Given the description of an element on the screen output the (x, y) to click on. 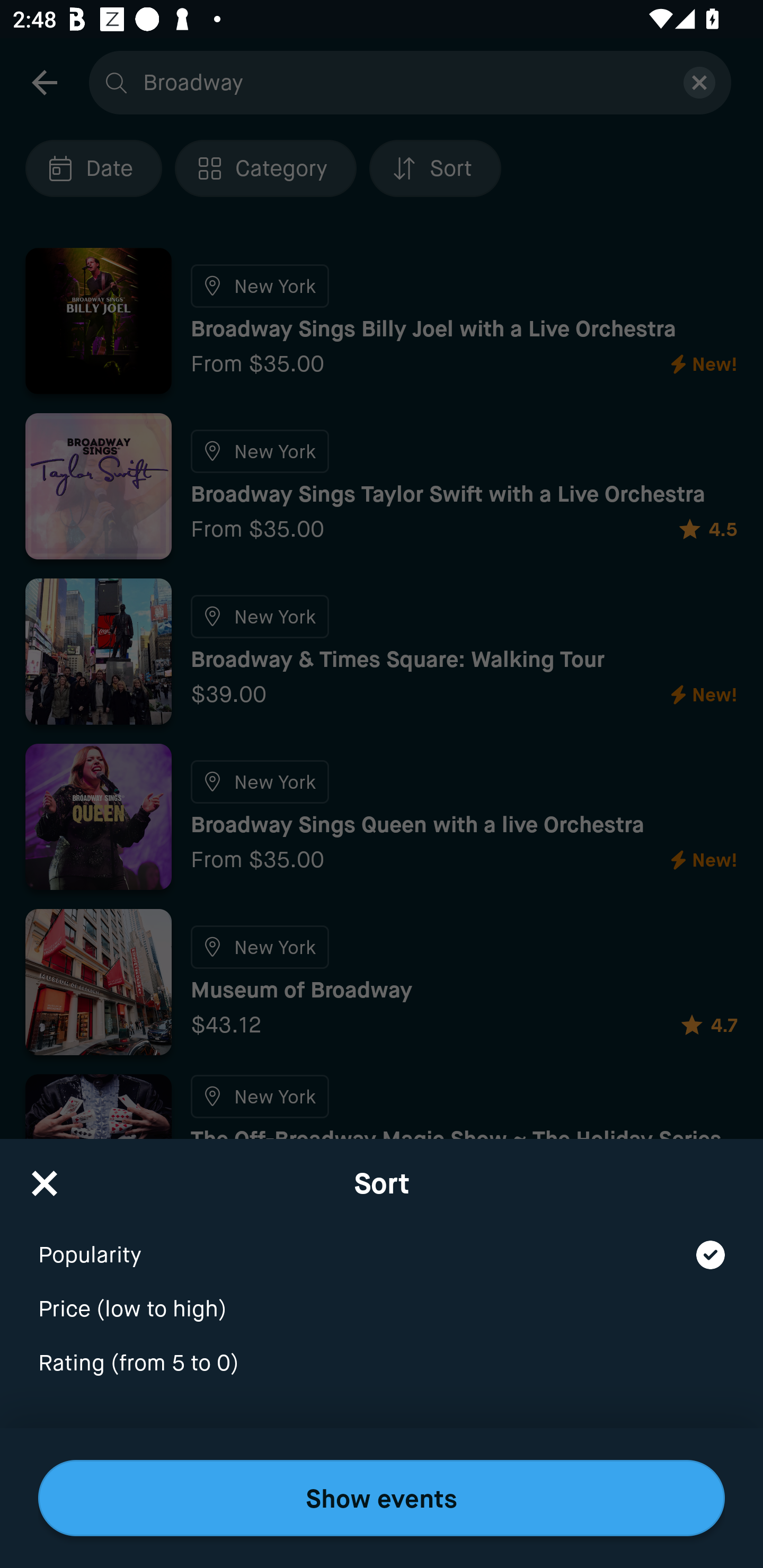
CloseButton (44, 1177)
Popularity Selected Icon (381, 1243)
Price (low to high) (381, 1297)
Rating (from 5 to 0) (381, 1362)
Show events (381, 1497)
